Given the description of an element on the screen output the (x, y) to click on. 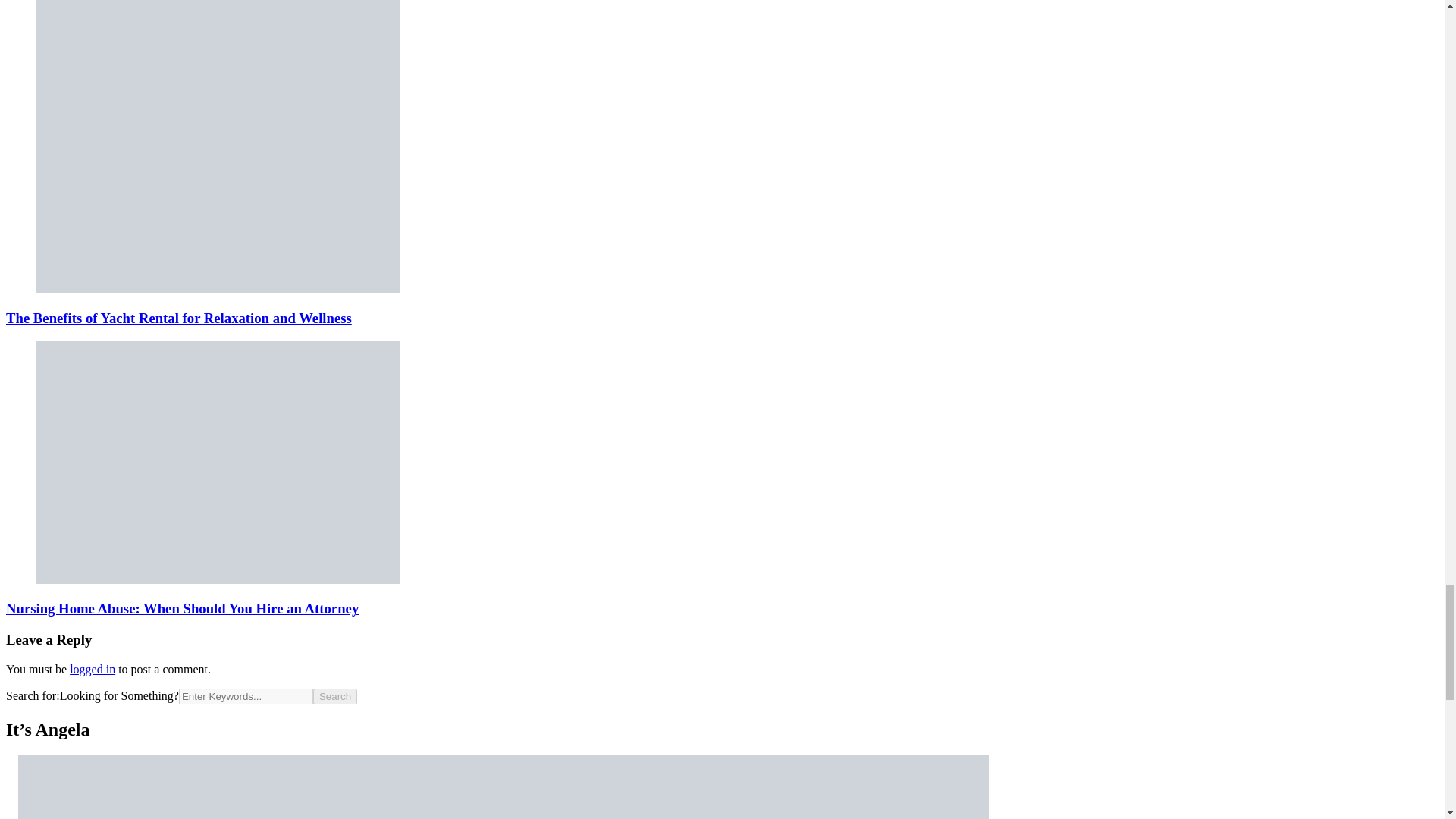
Search (334, 696)
Search (334, 696)
